Given the description of an element on the screen output the (x, y) to click on. 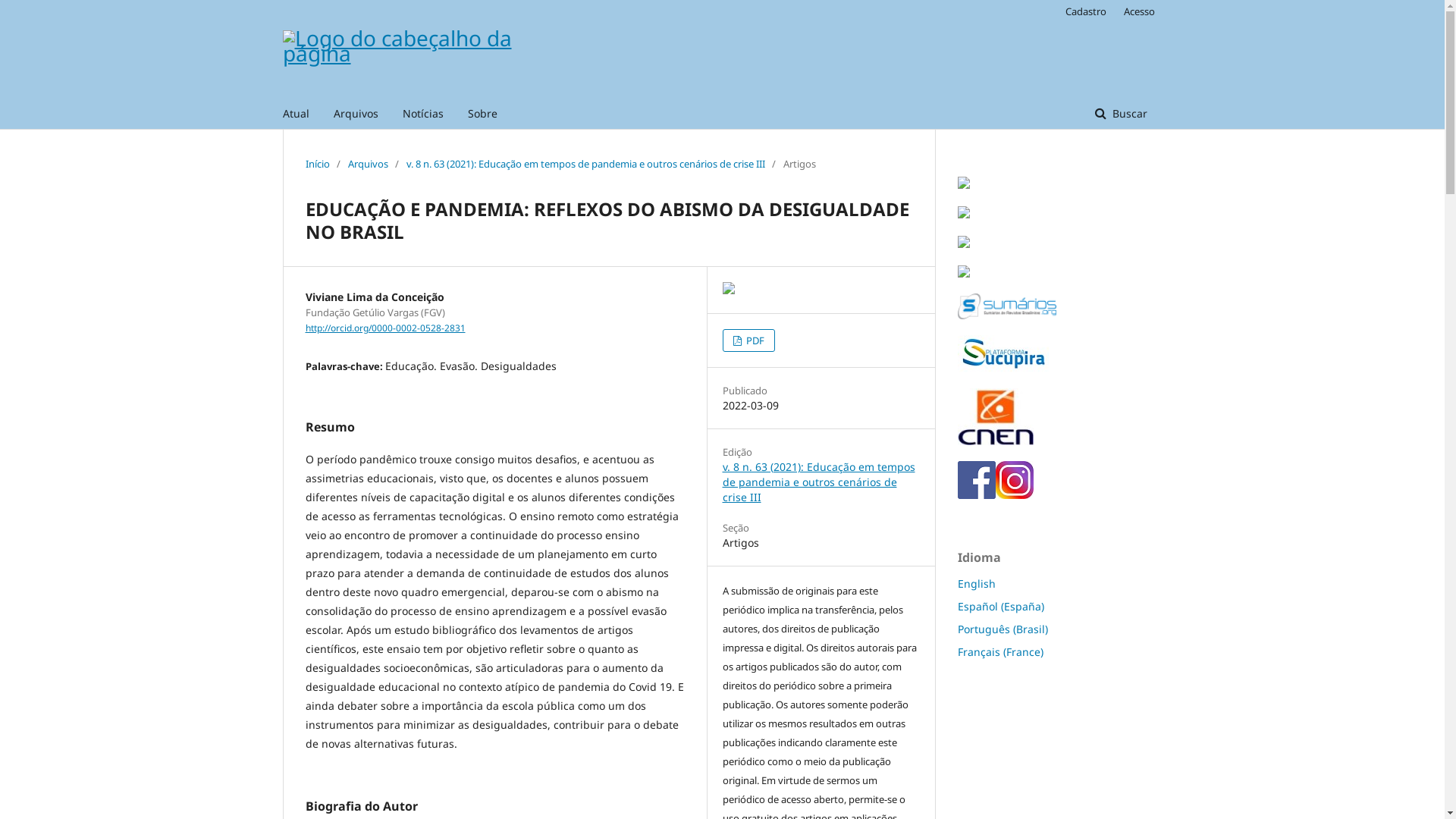
Cadastro Element type: text (1085, 11)
Arquivos Element type: text (367, 163)
Buscar Element type: text (1120, 113)
Atual Element type: text (295, 113)
Sobre Element type: text (481, 113)
PDF Element type: text (747, 340)
Arquivos Element type: text (355, 113)
English Element type: text (975, 583)
http://orcid.org/0000-0002-0528-2831 Element type: text (384, 327)
Acesso Element type: text (1135, 11)
